Given the description of an element on the screen output the (x, y) to click on. 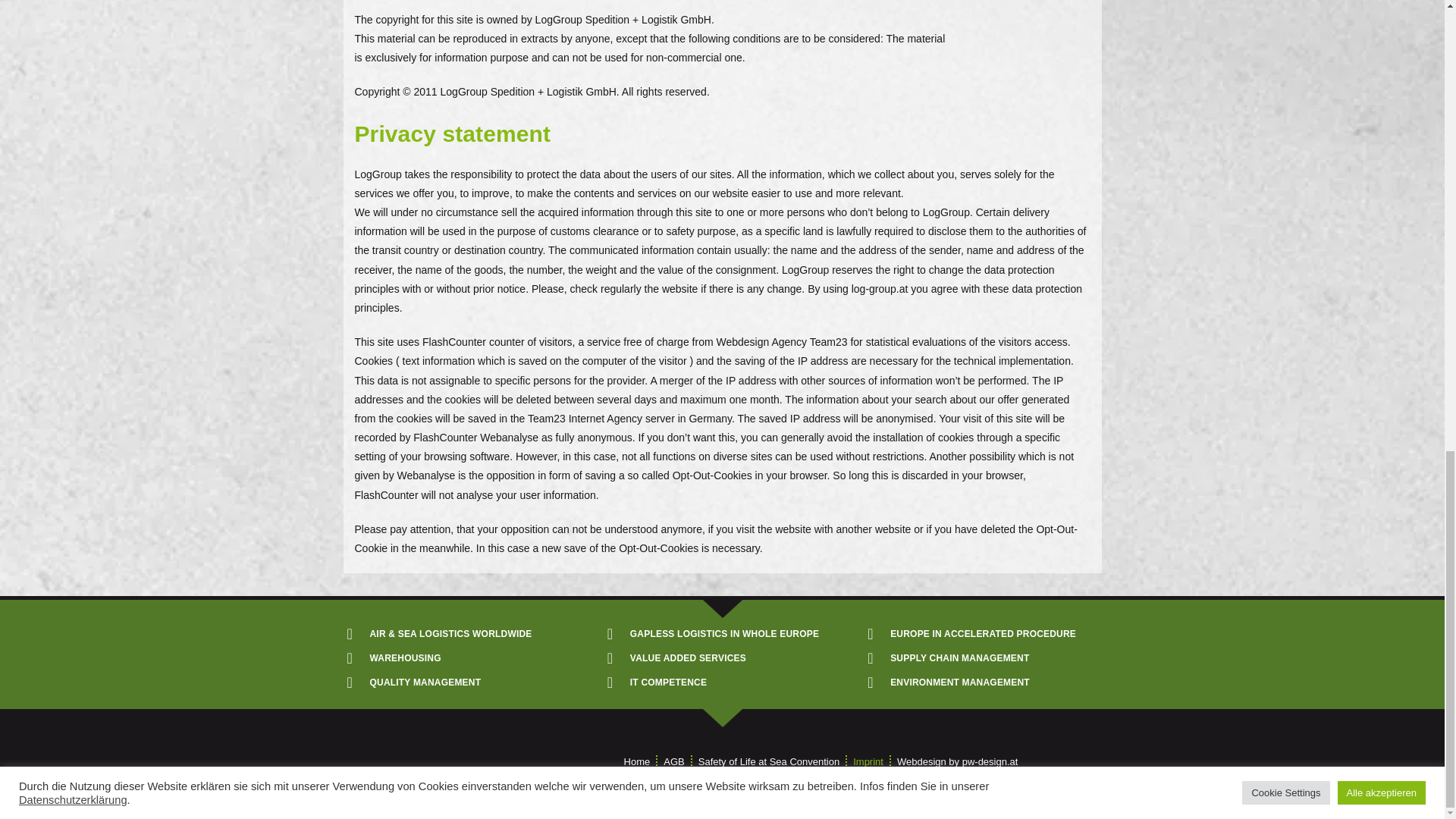
Safety of Life at Sea Convention (769, 762)
VALUE ADDED SERVICES (725, 657)
EUROPE IN ACCELERATED PROCEDURE (986, 633)
QUALITY MANAGEMENT (466, 682)
Imprint (868, 762)
Webdesign by pw-design.at (957, 762)
GAPLESS LOGISTICS IN WHOLE EUROPE (725, 633)
Home (636, 762)
SUPPLY CHAIN MANAGEMENT (986, 657)
IT COMPETENCE (725, 682)
ENVIRONMENT MANAGEMENT (986, 682)
WAREHOUSING (466, 657)
AGB (674, 762)
